Given the description of an element on the screen output the (x, y) to click on. 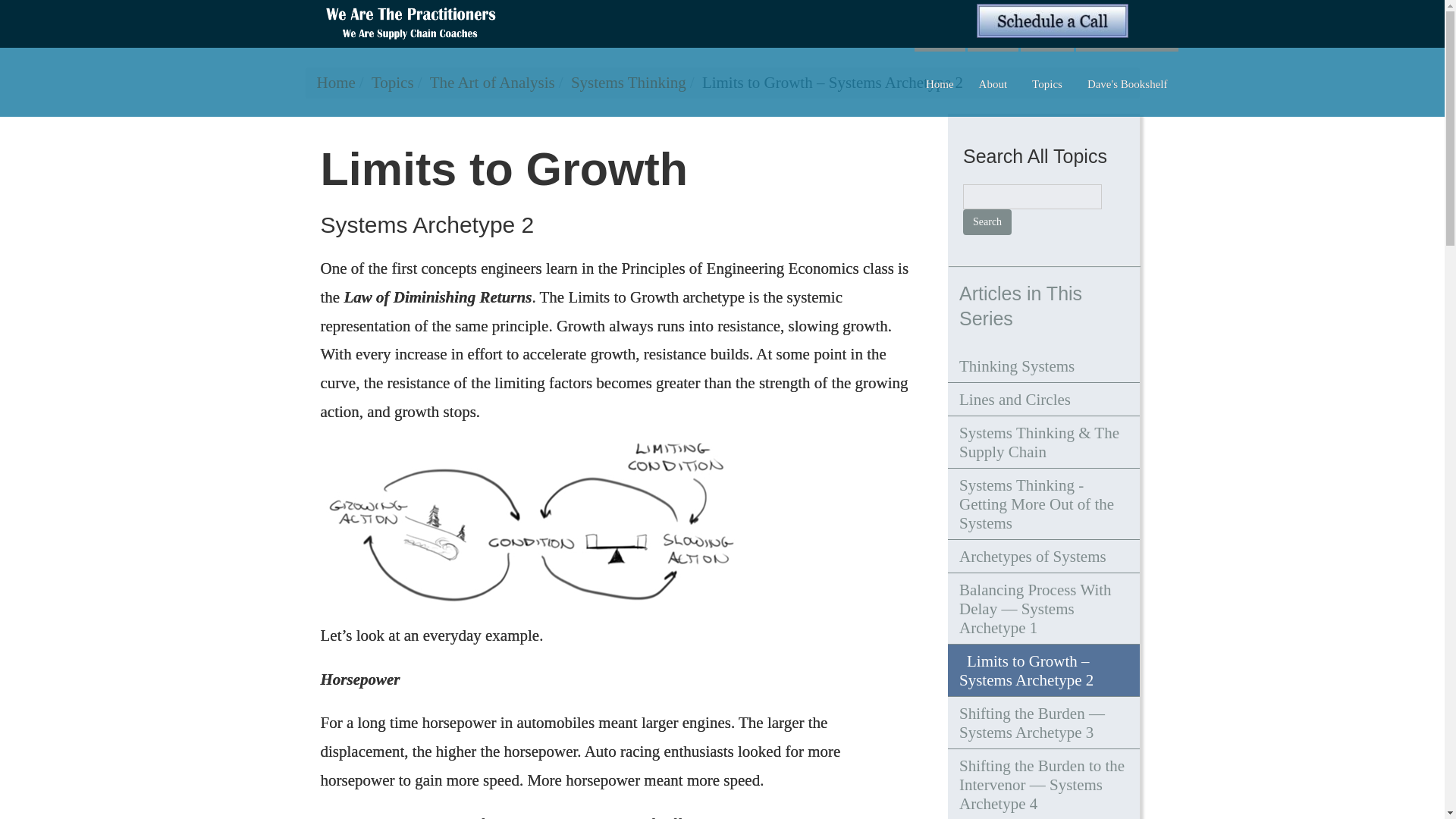
The Art of Analysis (491, 82)
Search (986, 222)
Search (986, 222)
Dave's Bookshelf (1127, 82)
Topics (392, 82)
Systems Thinking (627, 82)
Home (336, 82)
Lines and Circles (1043, 399)
Thinking Systems (1043, 365)
Search (986, 222)
